Given the description of an element on the screen output the (x, y) to click on. 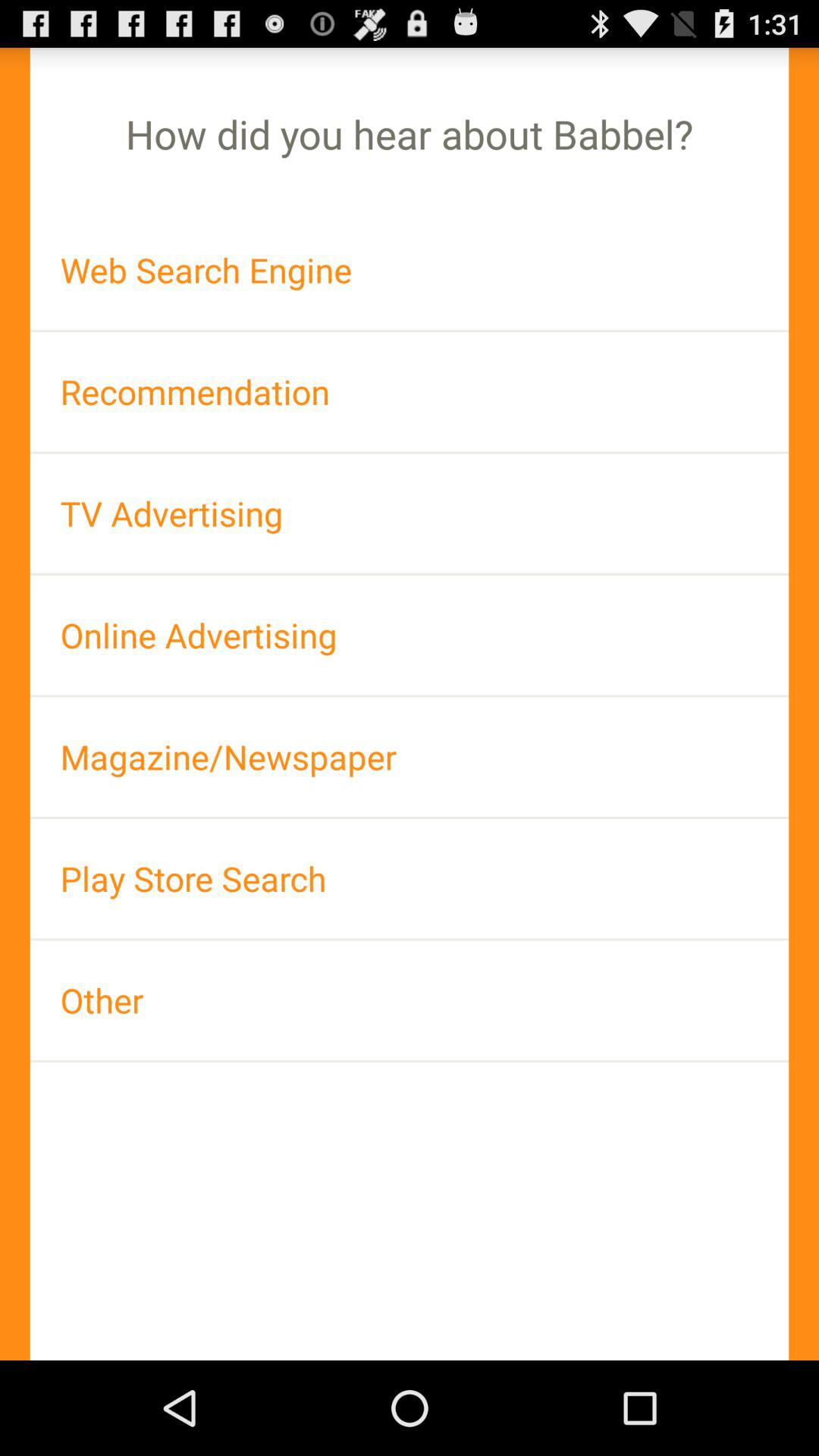
turn on the icon above the other item (409, 878)
